Given the description of an element on the screen output the (x, y) to click on. 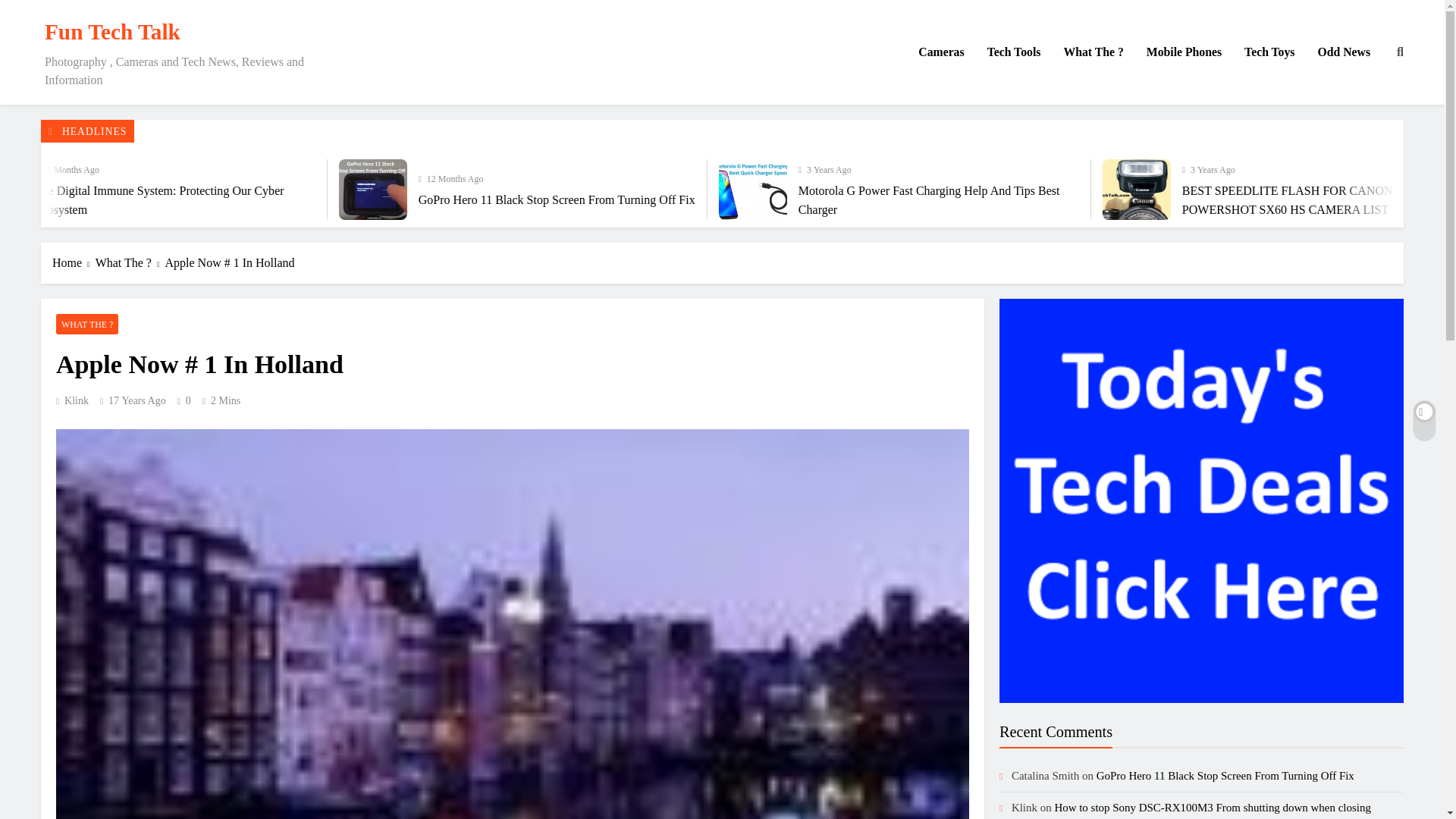
11 Months Ago (501, 168)
Cameras (941, 51)
The Digital Immune System: Protecting Our Cyber Ecosystem (585, 199)
BEST SPEEDLITE FLASH FOR CANON POWERSHOT SX60 HS CAMERA LIST (1376, 189)
Tech Tools (1013, 51)
The Digital Immune System: Protecting Our Cyber Ecosystem (271, 189)
The Digital Immune System: Protecting Our Cyber Ecosystem (431, 199)
GoPro Hero 11 Black Stop Screen From Turning Off Fix (816, 199)
Motorola G Power Fast Charging Help And Tips Best Charger (1000, 189)
Odd News (1343, 51)
Motorola G Power Fast Charging Help And Tips Best Charger (1005, 189)
An In-Depth Review Of The Ricoh GR III Diary Edition (235, 199)
Fun Tech Talk (112, 31)
The Digital Immune System: Protecting Our Cyber Ecosystem (266, 189)
BEST SPEEDLITE FLASH FOR CANON POWERSHOT SX60 HS CAMERA LIST (1372, 189)
